Given the description of an element on the screen output the (x, y) to click on. 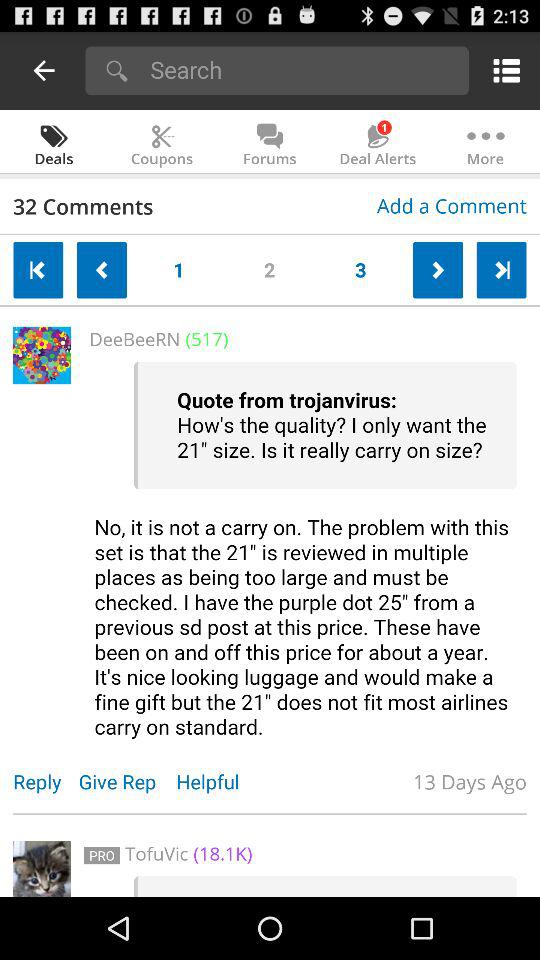
go to next page (437, 270)
